Given the description of an element on the screen output the (x, y) to click on. 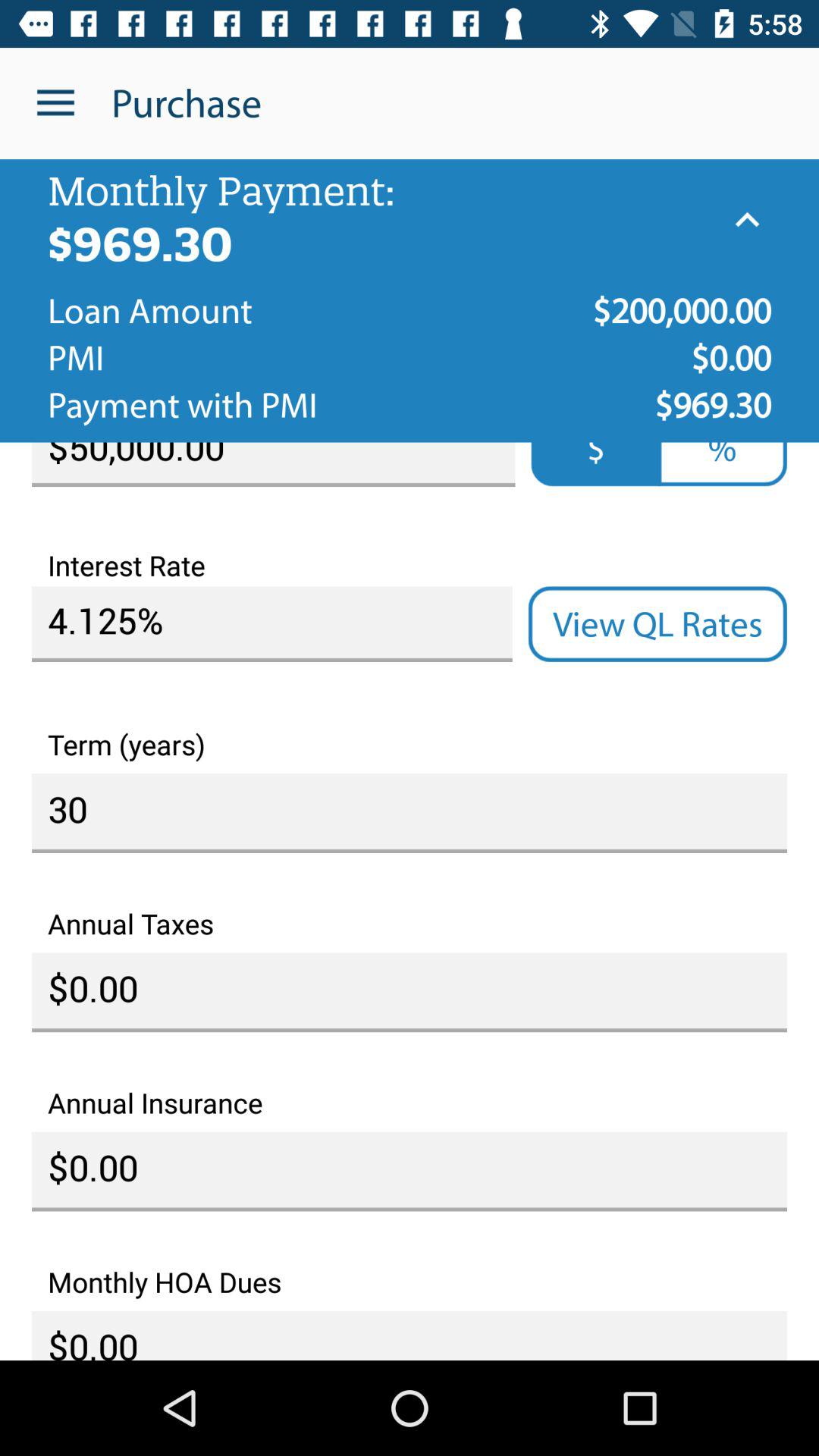
click item above term (years) icon (657, 624)
